Given the description of an element on the screen output the (x, y) to click on. 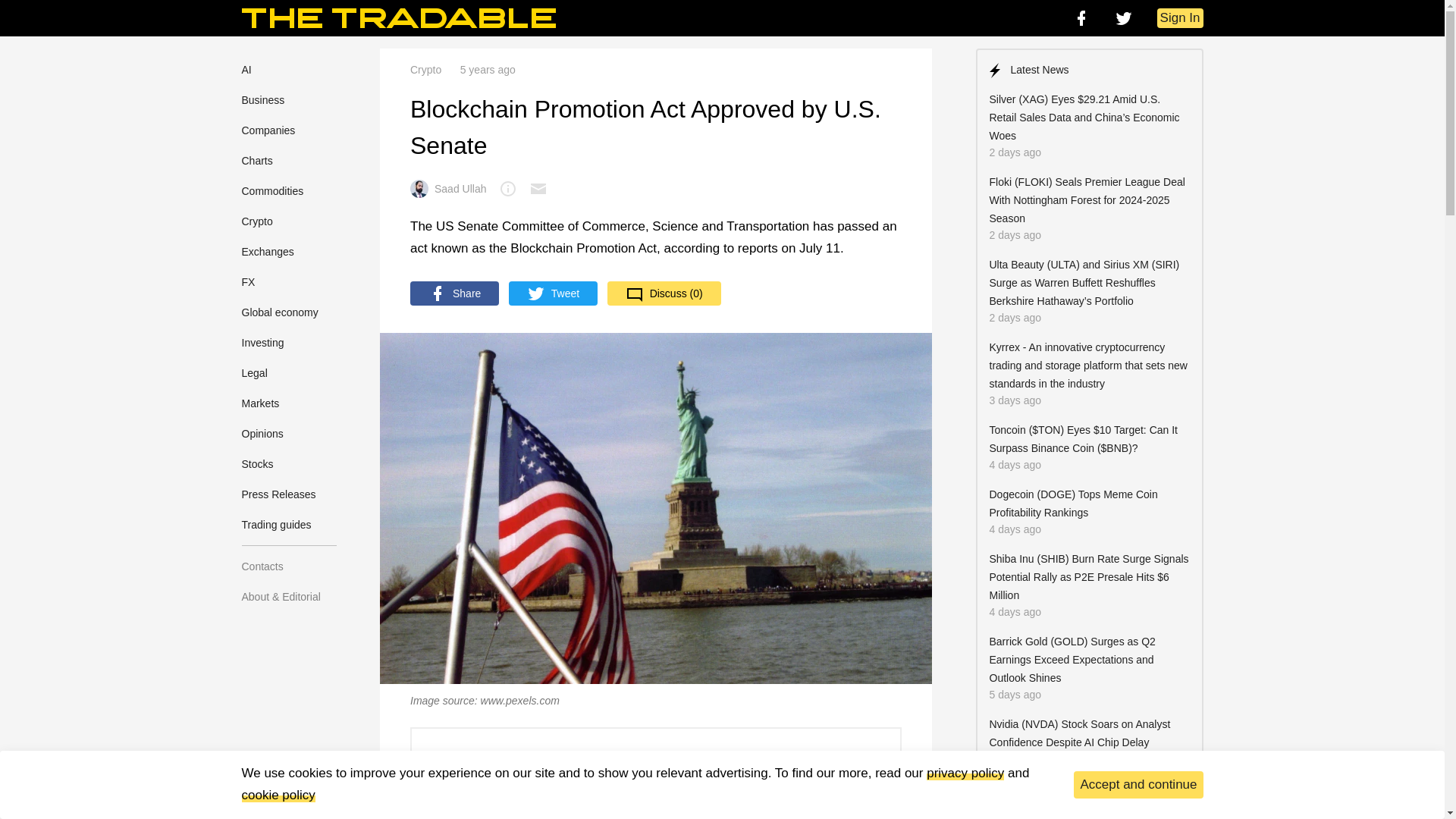
Business (262, 100)
Companies (268, 130)
Exchanges (267, 251)
Charts (256, 160)
Sign In (1180, 17)
Global economy (279, 312)
Commodities (271, 191)
FX (247, 282)
Crypto (256, 221)
Investing (262, 342)
